Given the description of an element on the screen output the (x, y) to click on. 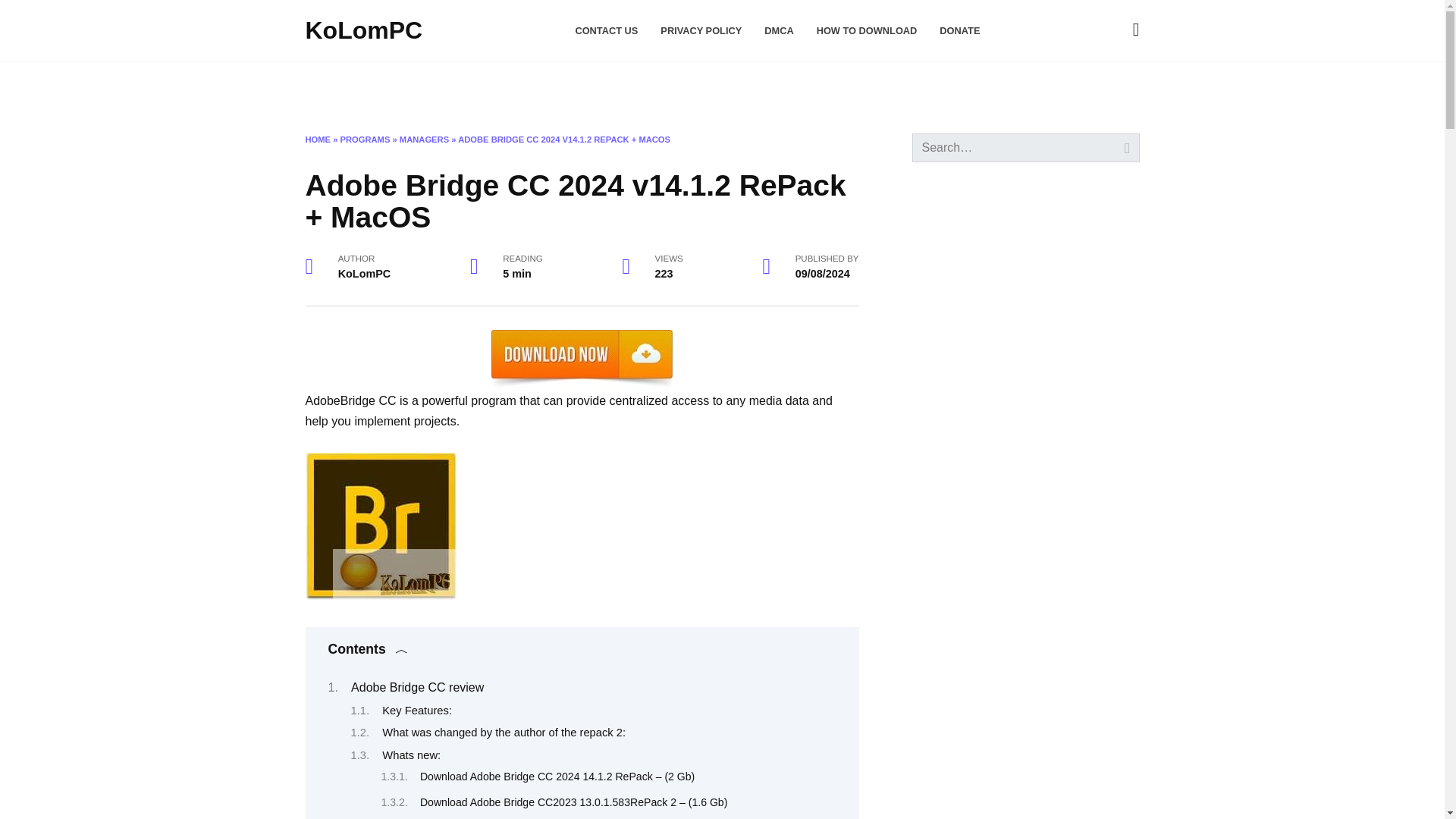
KoLomPC (363, 30)
DMCA (778, 30)
HOW TO DOWNLOAD (866, 30)
CONTACT US (606, 30)
Portable Apps (655, 86)
macOS (386, 86)
Programs (467, 86)
PRIVACY POLICY (701, 30)
PC Games (749, 86)
Home (325, 86)
